Given the description of an element on the screen output the (x, y) to click on. 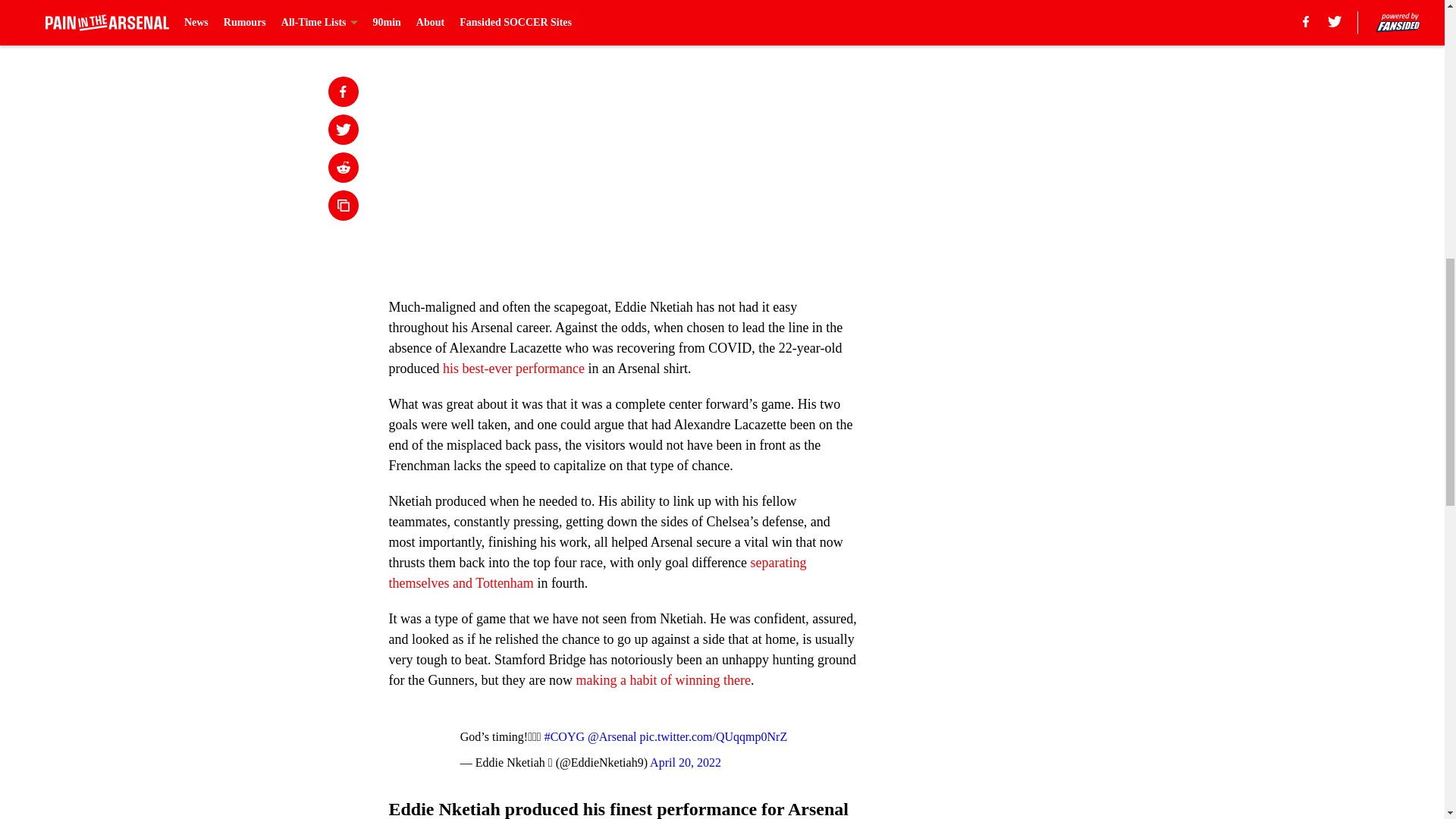
April 20, 2022 (684, 762)
his best-ever performance (513, 368)
separating themselves and Tottenham (597, 572)
making a habit of winning there (662, 679)
